Given the description of an element on the screen output the (x, y) to click on. 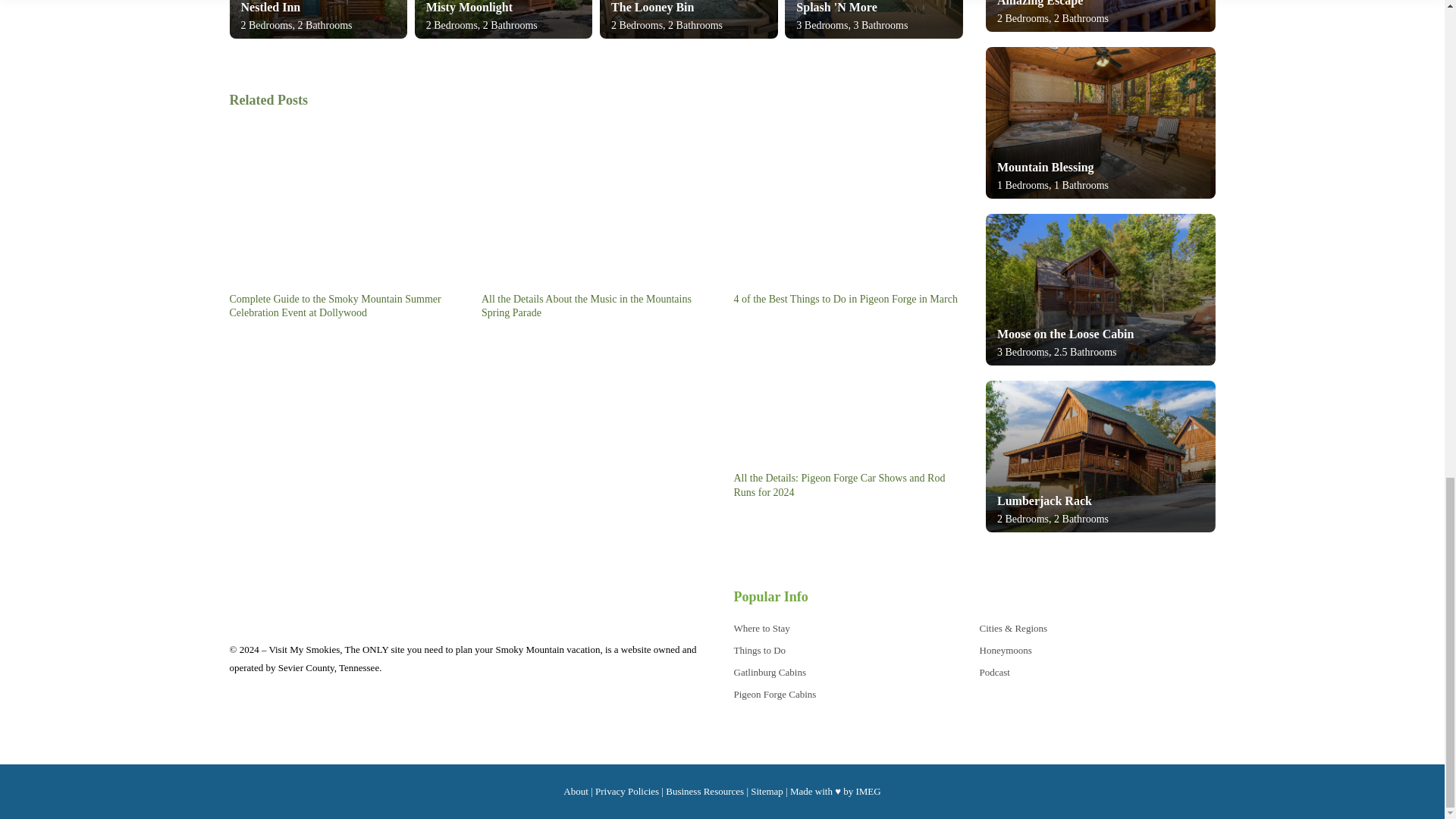
4 of the Best Things to Do in Pigeon Forge in March (844, 297)
4 of the Best Things to Do in Pigeon Forge in March (847, 213)
